Given the description of an element on the screen output the (x, y) to click on. 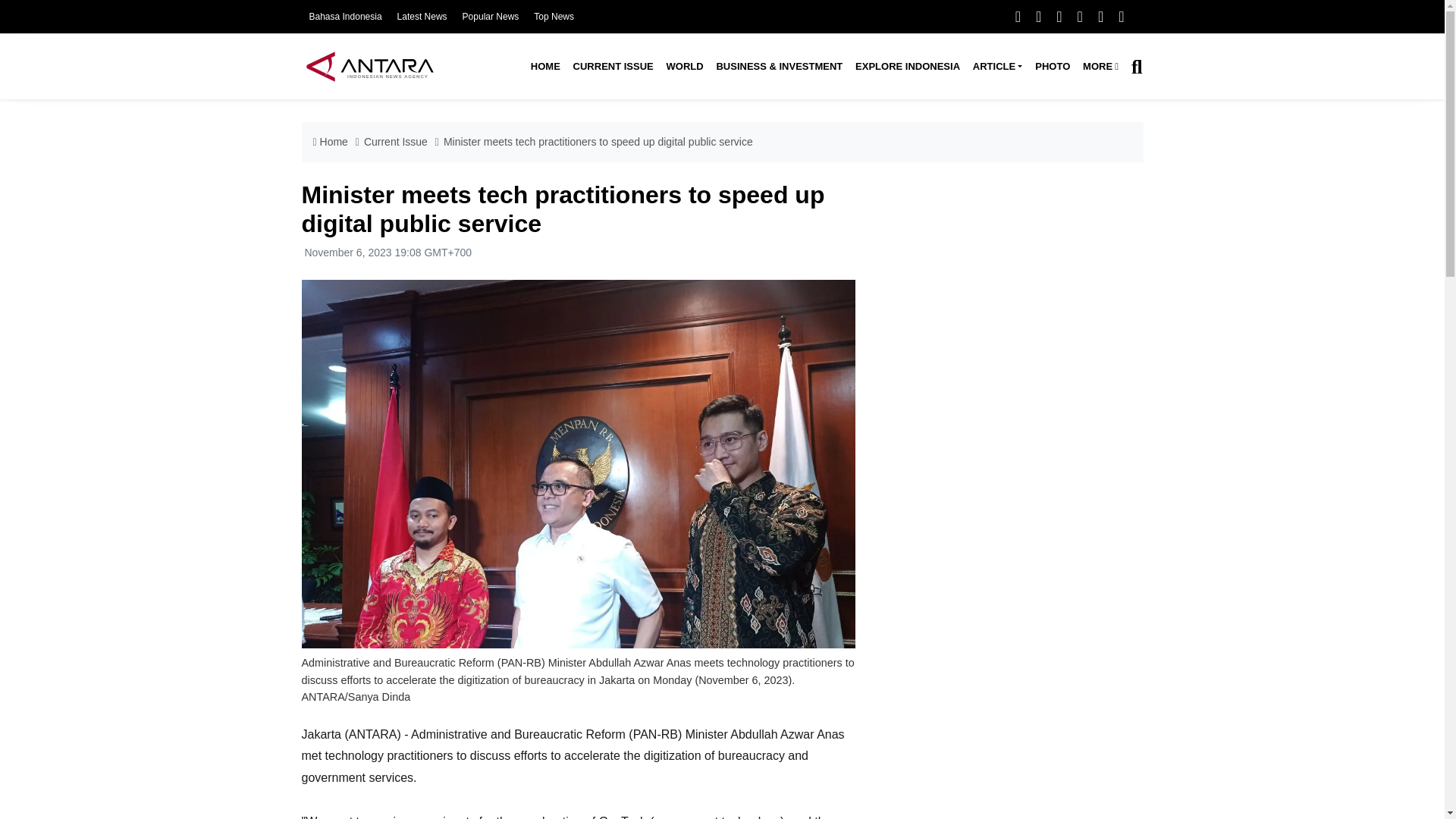
Explore Indonesia (907, 66)
CURRENT ISSUE (612, 66)
Bahasa Indonesia (344, 16)
Article (996, 66)
Popular News (491, 16)
Bahasa Indonesia (344, 16)
ANTARA News (369, 66)
Latest News (421, 16)
Popular News (491, 16)
Top News (553, 16)
EXPLORE INDONESIA (907, 66)
ARTICLE (996, 66)
Top News (553, 16)
Current Issue (612, 66)
